Given the description of an element on the screen output the (x, y) to click on. 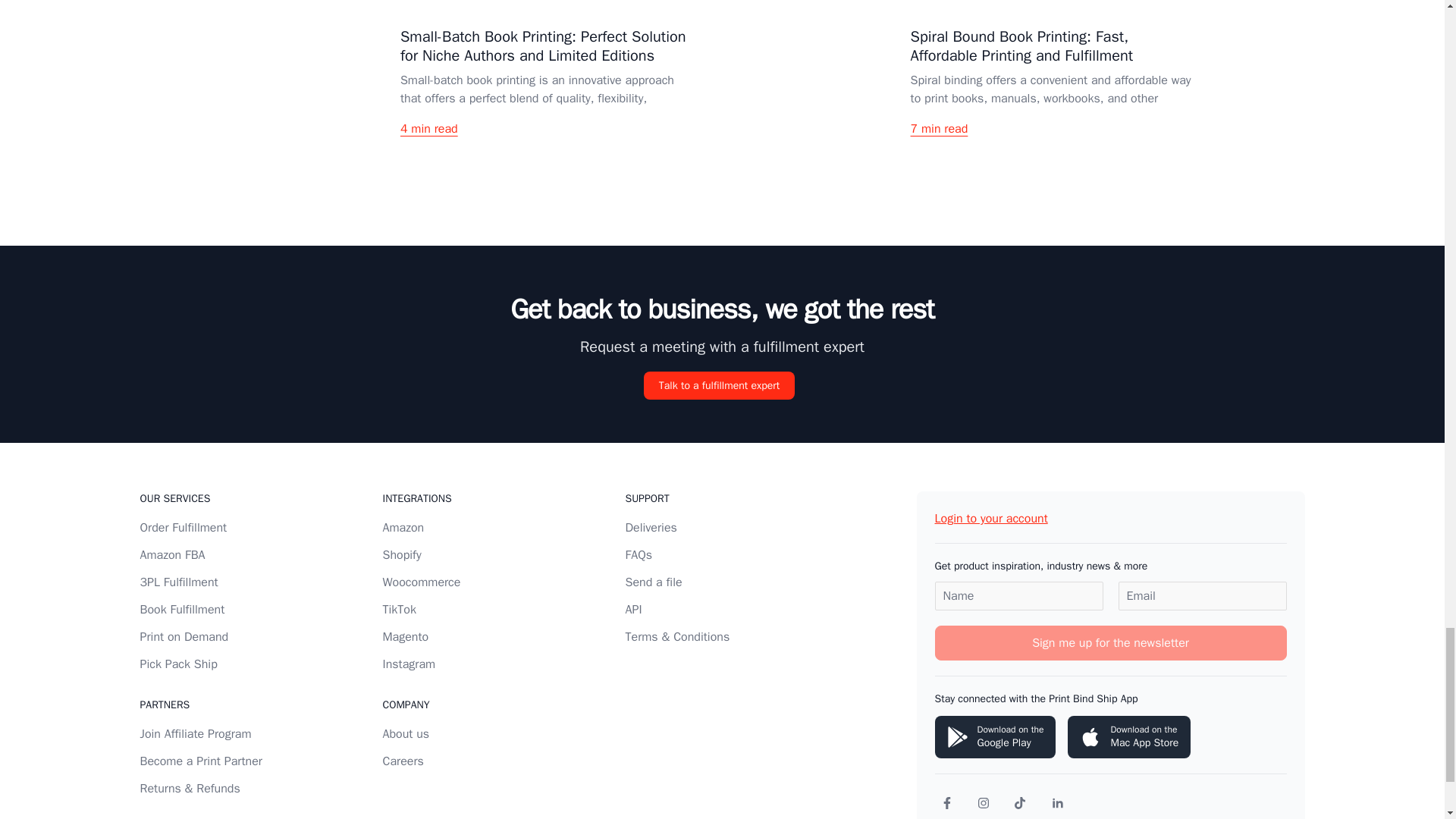
Book Fulfillment (181, 609)
Instagram (408, 663)
Send a file (652, 581)
TikTok (397, 609)
Amazon (402, 527)
Order Fulfillment (183, 527)
Shopify (400, 554)
Woocommerce (420, 581)
Deliveries (650, 527)
Pick Pack Ship (177, 663)
